Given the description of an element on the screen output the (x, y) to click on. 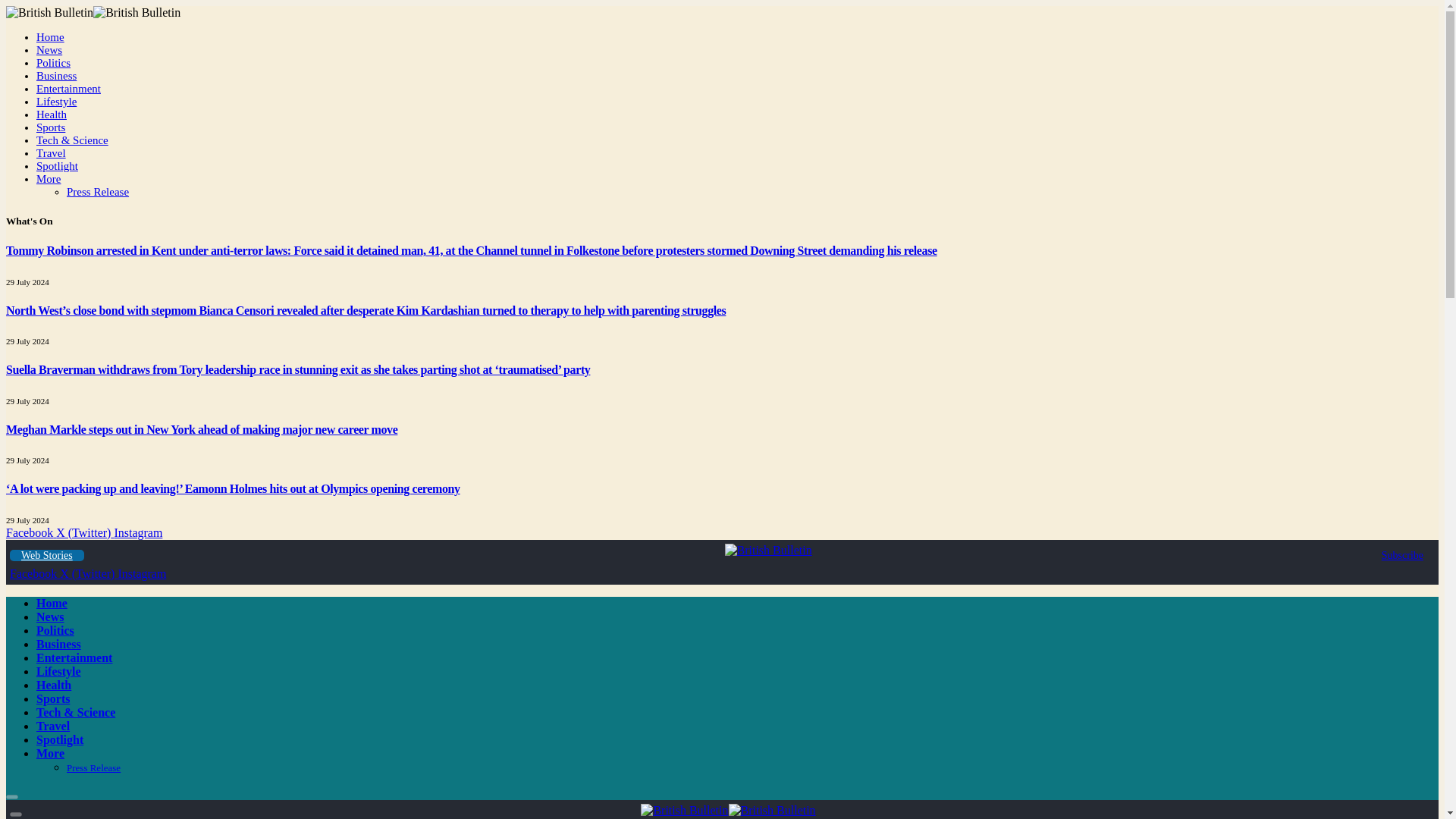
Sports (50, 127)
British Bulletin (768, 549)
News (50, 616)
Instagram (141, 573)
Press Release (97, 191)
News (49, 50)
Instagram (137, 532)
More (48, 178)
Home (50, 37)
